Given the description of an element on the screen output the (x, y) to click on. 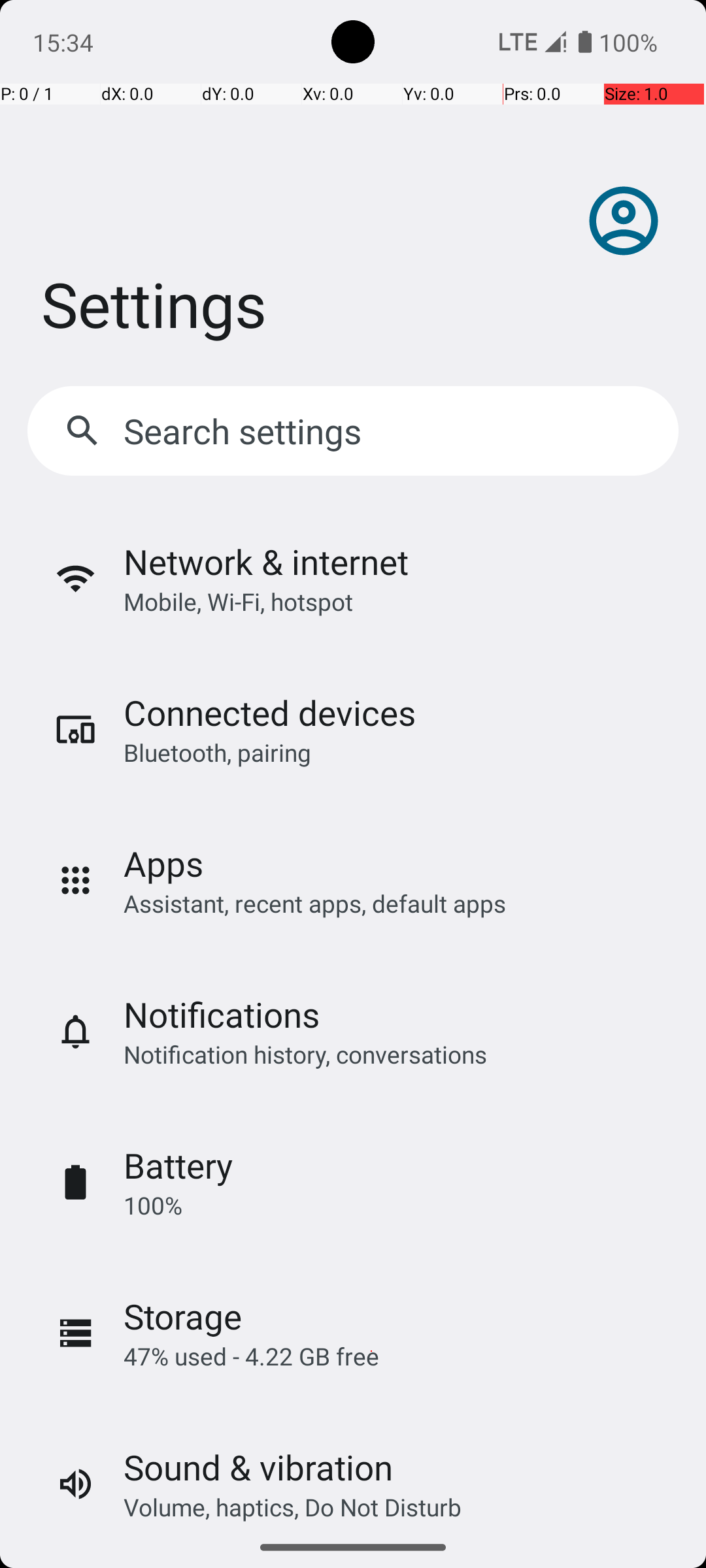
47% used - 4.22 GB free Element type: android.widget.TextView (251, 1355)
